Given the description of an element on the screen output the (x, y) to click on. 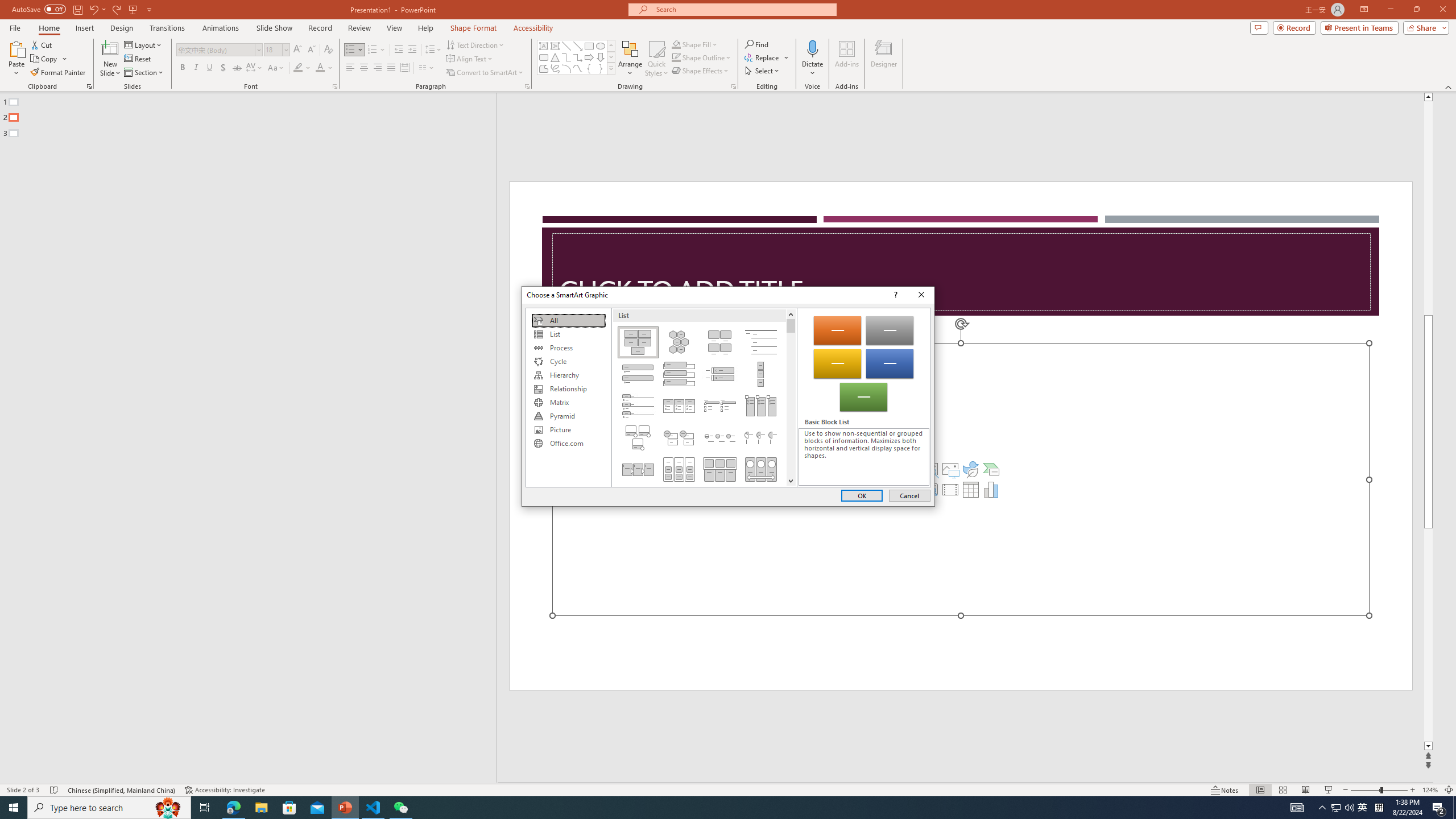
Detailed Process (637, 469)
Stacked List (678, 437)
Vertical Box List (678, 373)
